Given the description of an element on the screen output the (x, y) to click on. 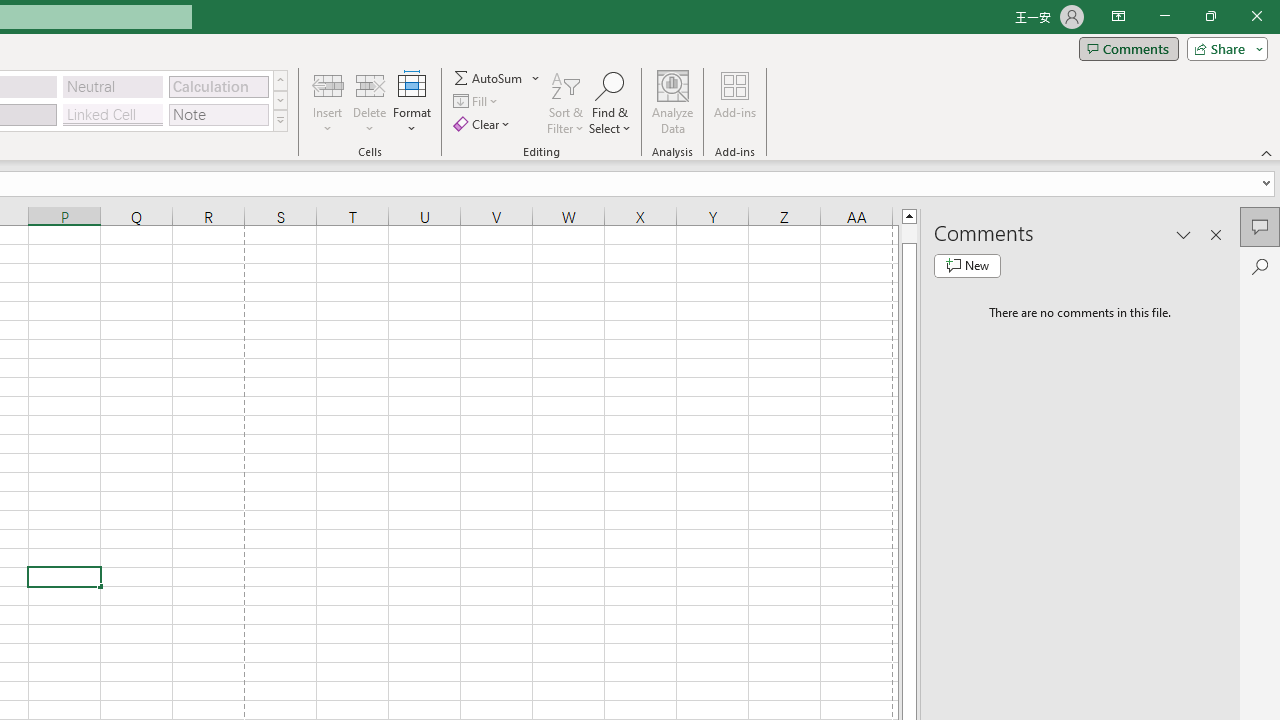
AutoSum (497, 78)
Search (1260, 266)
Format (411, 102)
Analyze Data (673, 102)
New comment (967, 265)
Fill (477, 101)
